Given the description of an element on the screen output the (x, y) to click on. 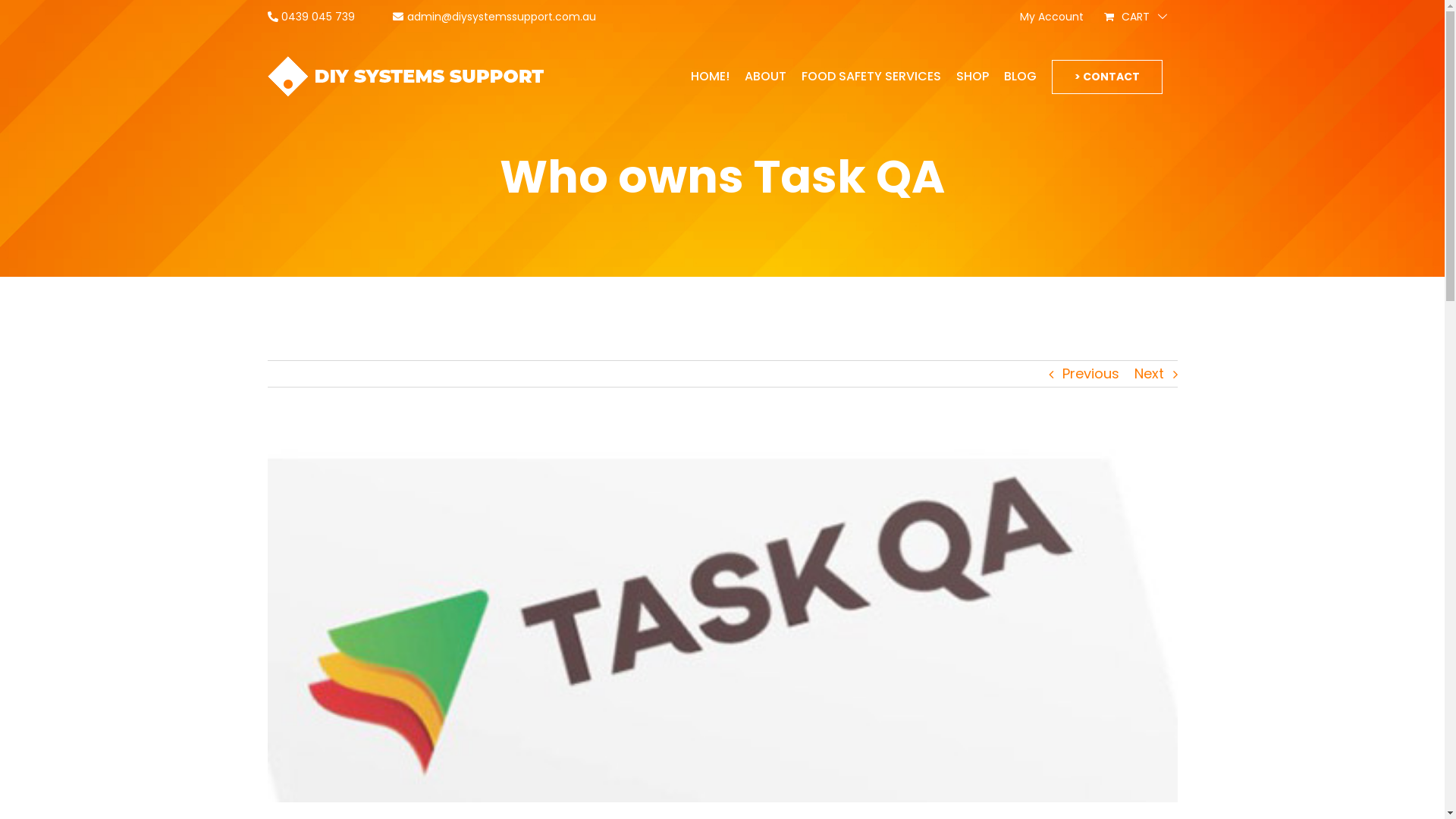
HOME! Element type: text (709, 76)
Log In Element type: text (1151, 177)
> CONTACT Element type: text (1106, 76)
FOOD SAFETY SERVICES Element type: text (870, 76)
My Account Element type: text (1051, 16)
CART Element type: text (1134, 16)
Previous Element type: text (1089, 373)
0439 045 739 Element type: text (310, 16)
View Larger Image Element type: text (721, 617)
admin@diysystemssupport.com.au Element type: text (494, 16)
Next Element type: text (1149, 373)
SHOP Element type: text (971, 76)
ABOUT Element type: text (765, 76)
BLOG Element type: text (1020, 76)
